Given the description of an element on the screen output the (x, y) to click on. 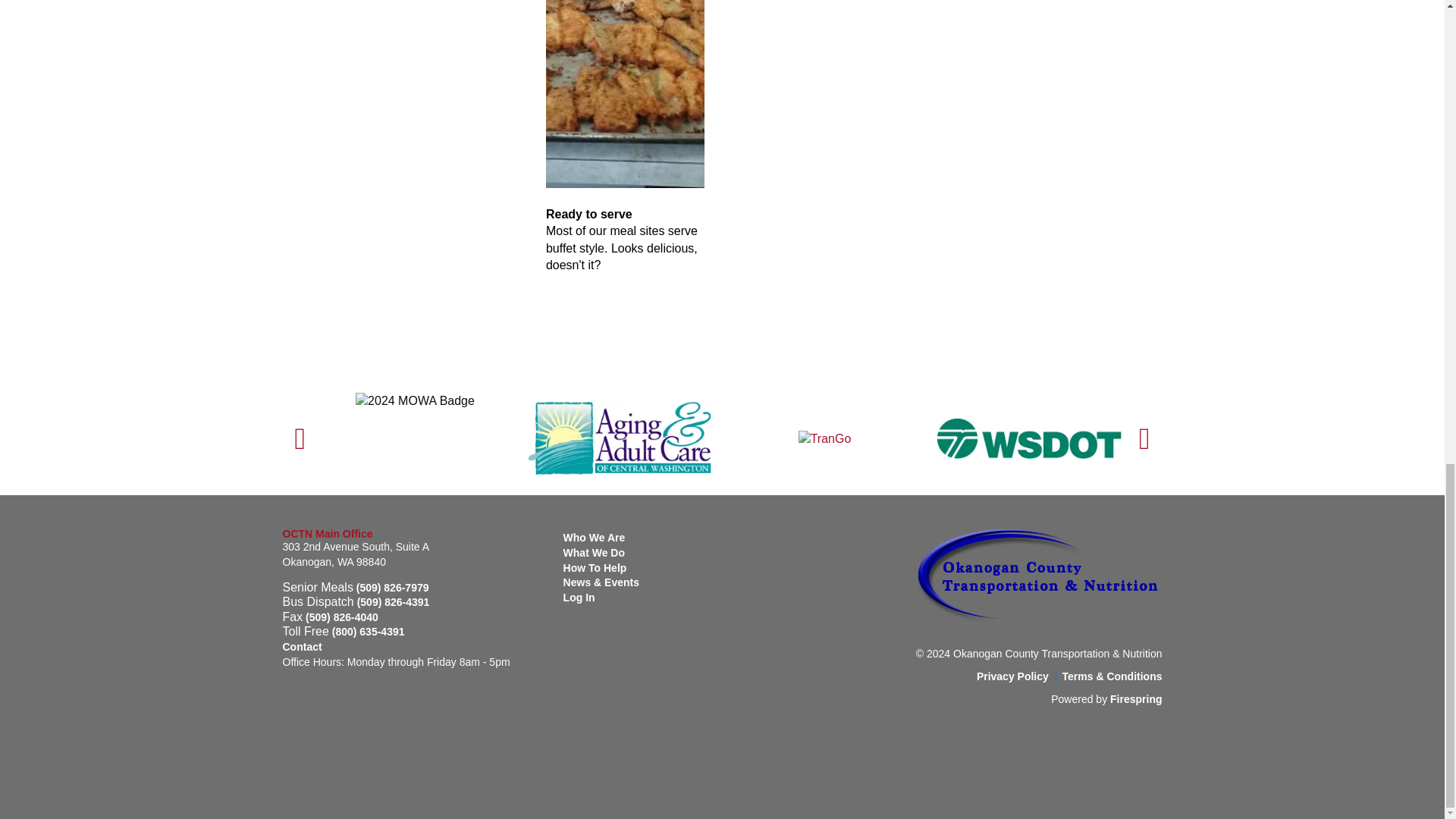
logo (1038, 574)
